Given the description of an element on the screen output the (x, y) to click on. 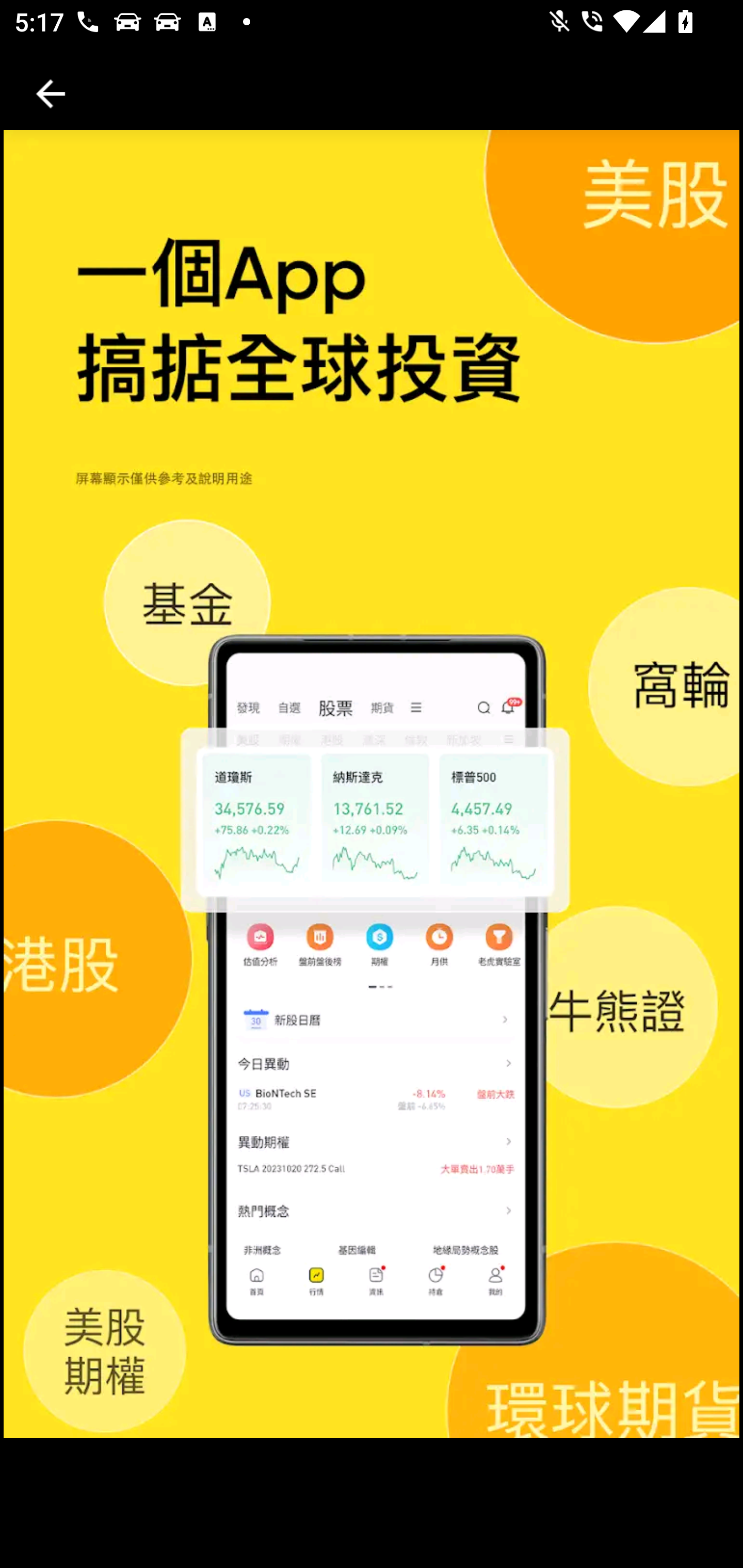
Back (50, 93)
